Given the description of an element on the screen output the (x, y) to click on. 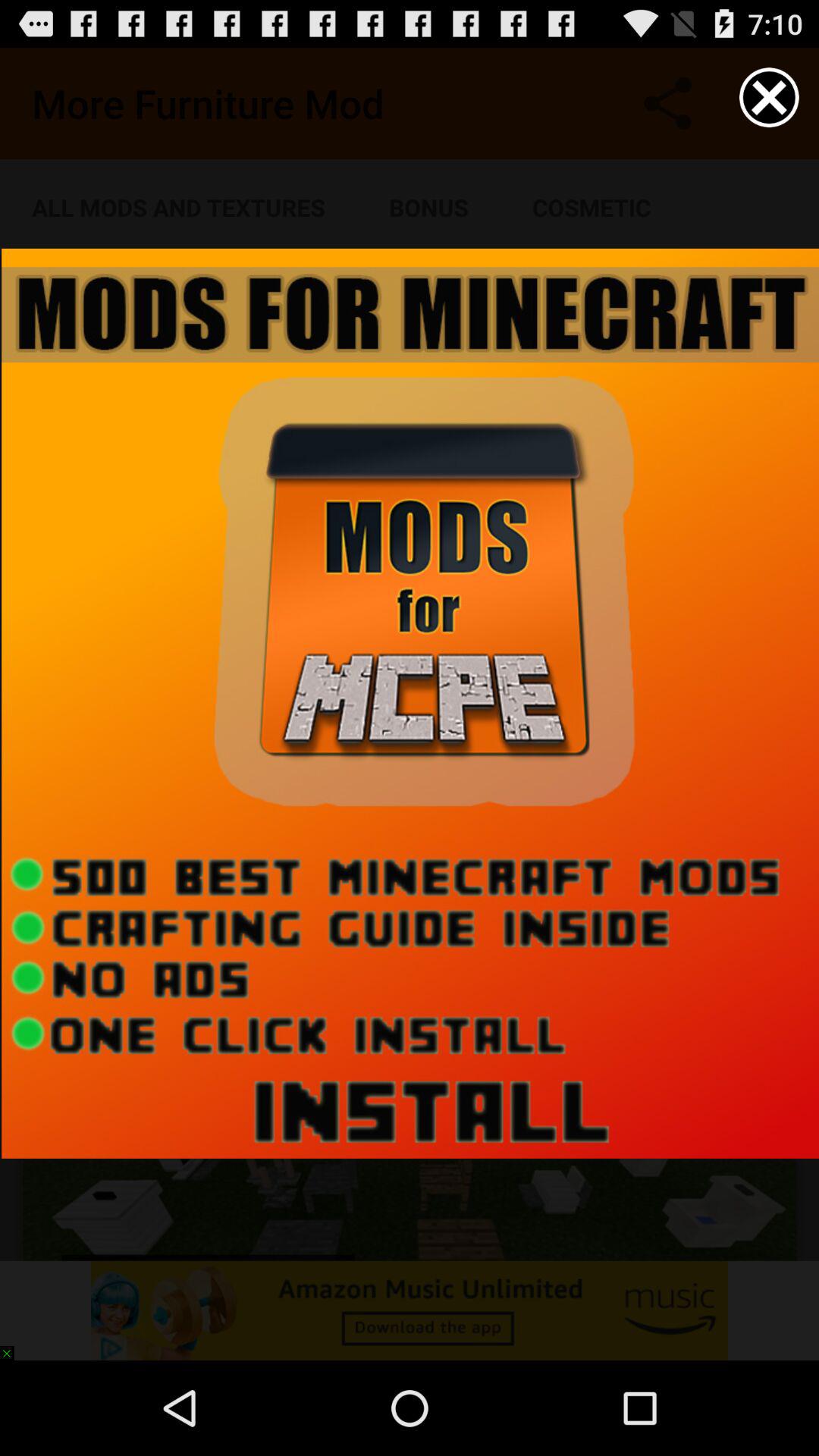
go to close (769, 97)
